Given the description of an element on the screen output the (x, y) to click on. 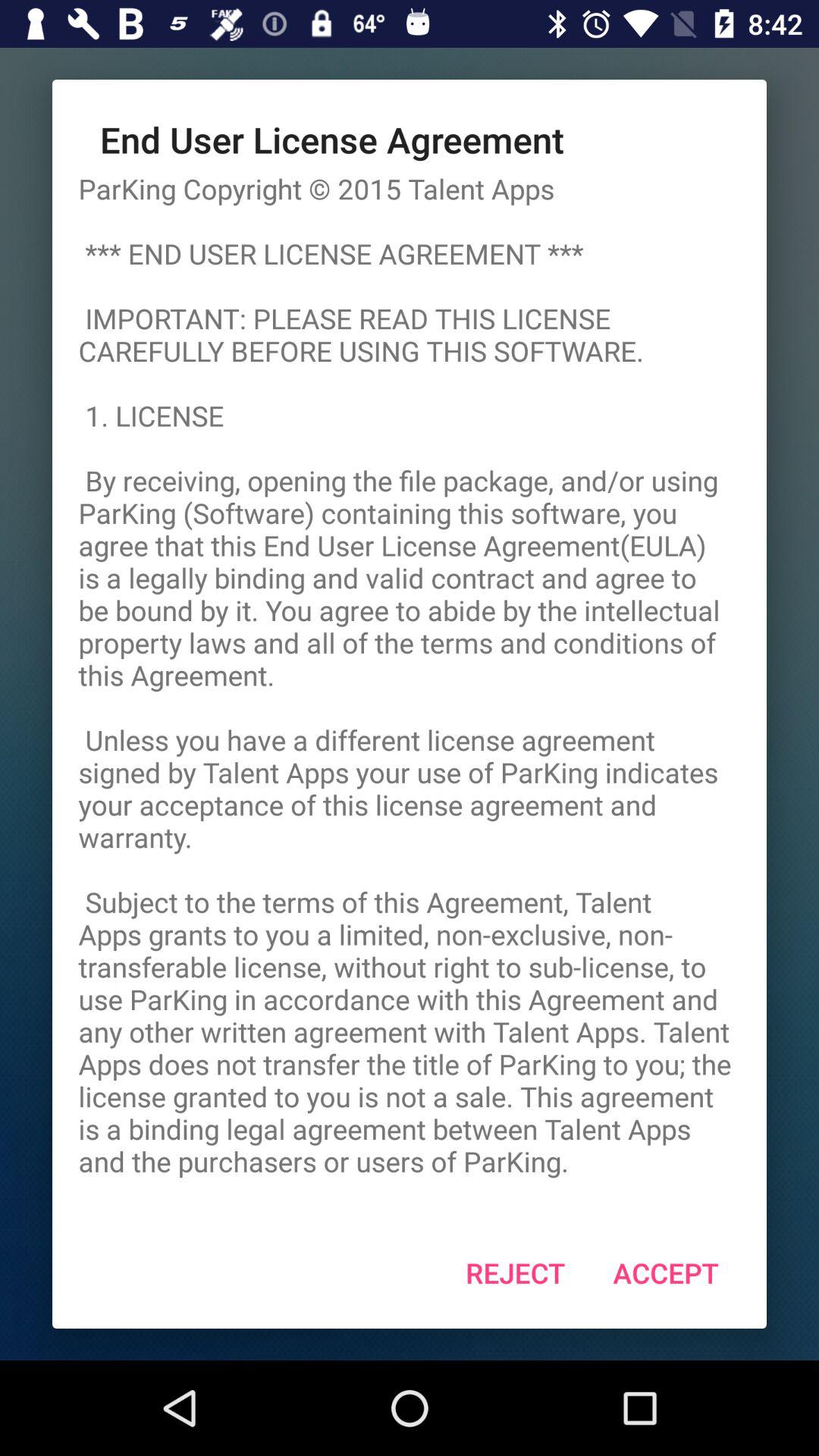
turn on the accept (665, 1272)
